Given the description of an element on the screen output the (x, y) to click on. 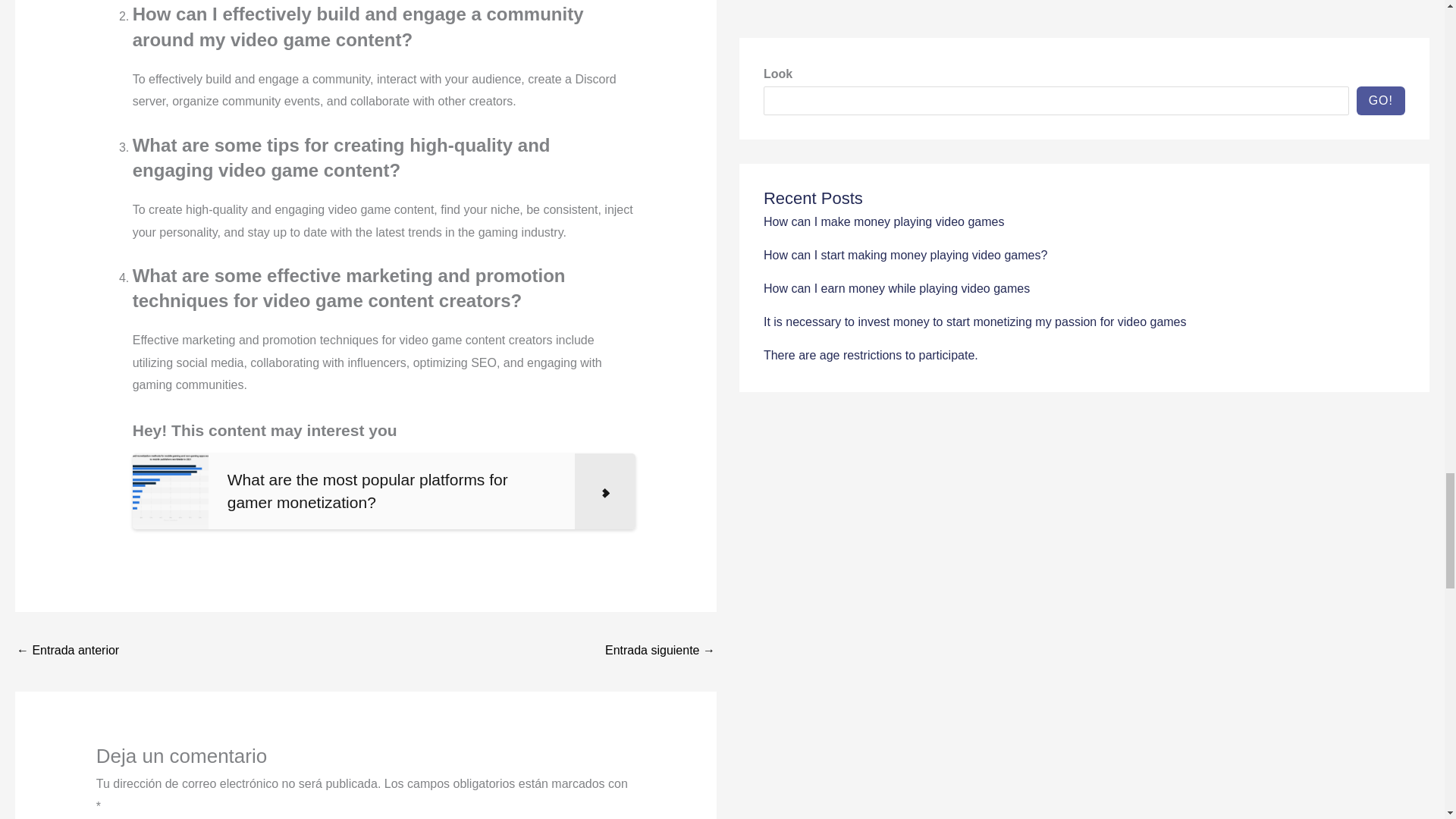
What are the most popular platforms for gamer monetization? (384, 491)
There are age restrictions to participate. (659, 651)
What are the best ways to promote my gaming content? (67, 651)
